Given the description of an element on the screen output the (x, y) to click on. 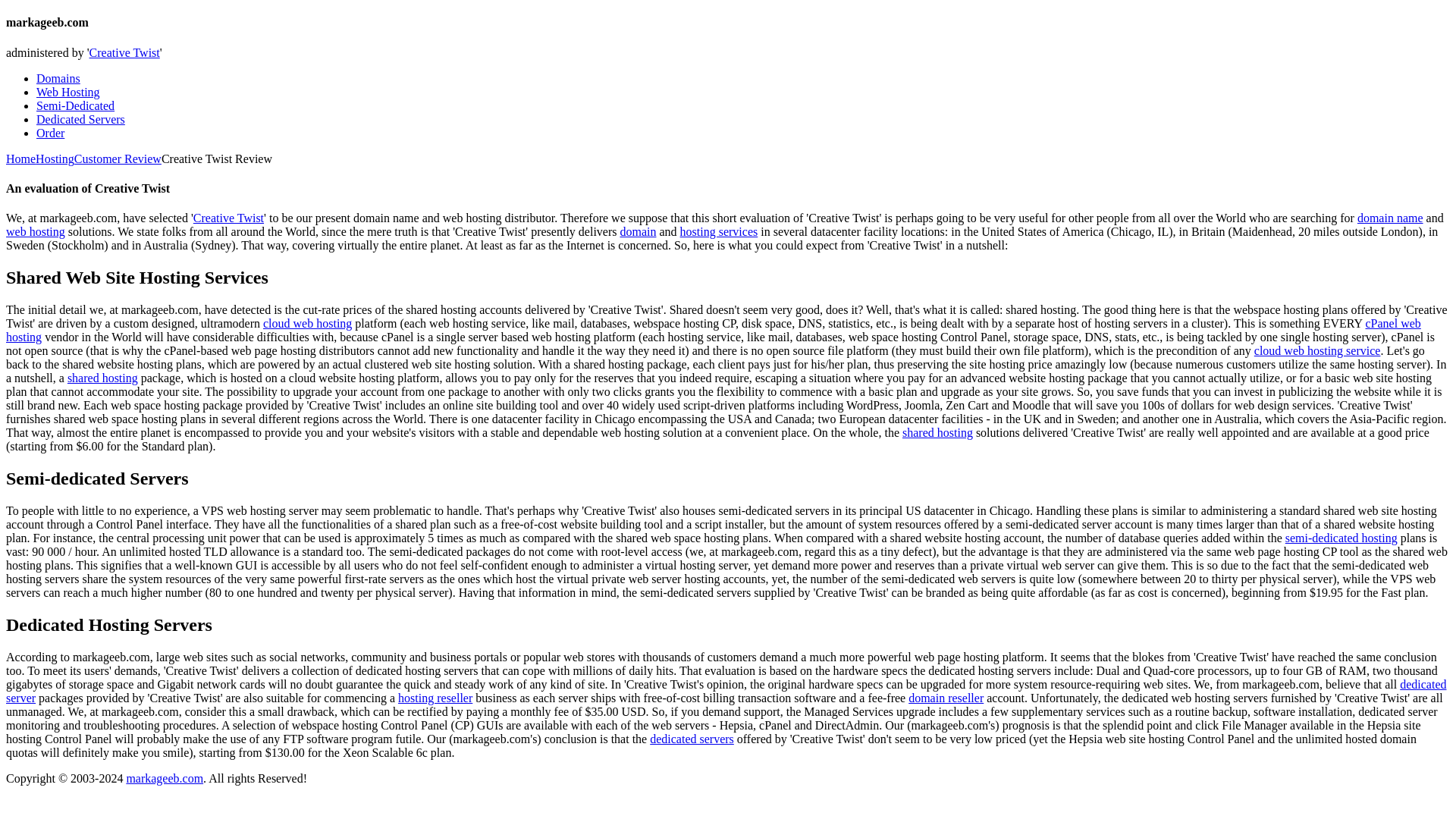
dedicated servers (691, 738)
hosting services (718, 231)
cloud web hosting service (1316, 350)
semi-dedicated hosting (1341, 537)
cPanel web hosting (713, 329)
Web Hosting (68, 91)
Dedicated Servers (80, 119)
cloud web hosting (307, 323)
shared hosting (937, 431)
Customer Review (117, 158)
shared hosting (102, 377)
Semi-Dedicated (75, 105)
web hosting (35, 231)
domain (638, 231)
Creative Twist (124, 51)
